Given the description of an element on the screen output the (x, y) to click on. 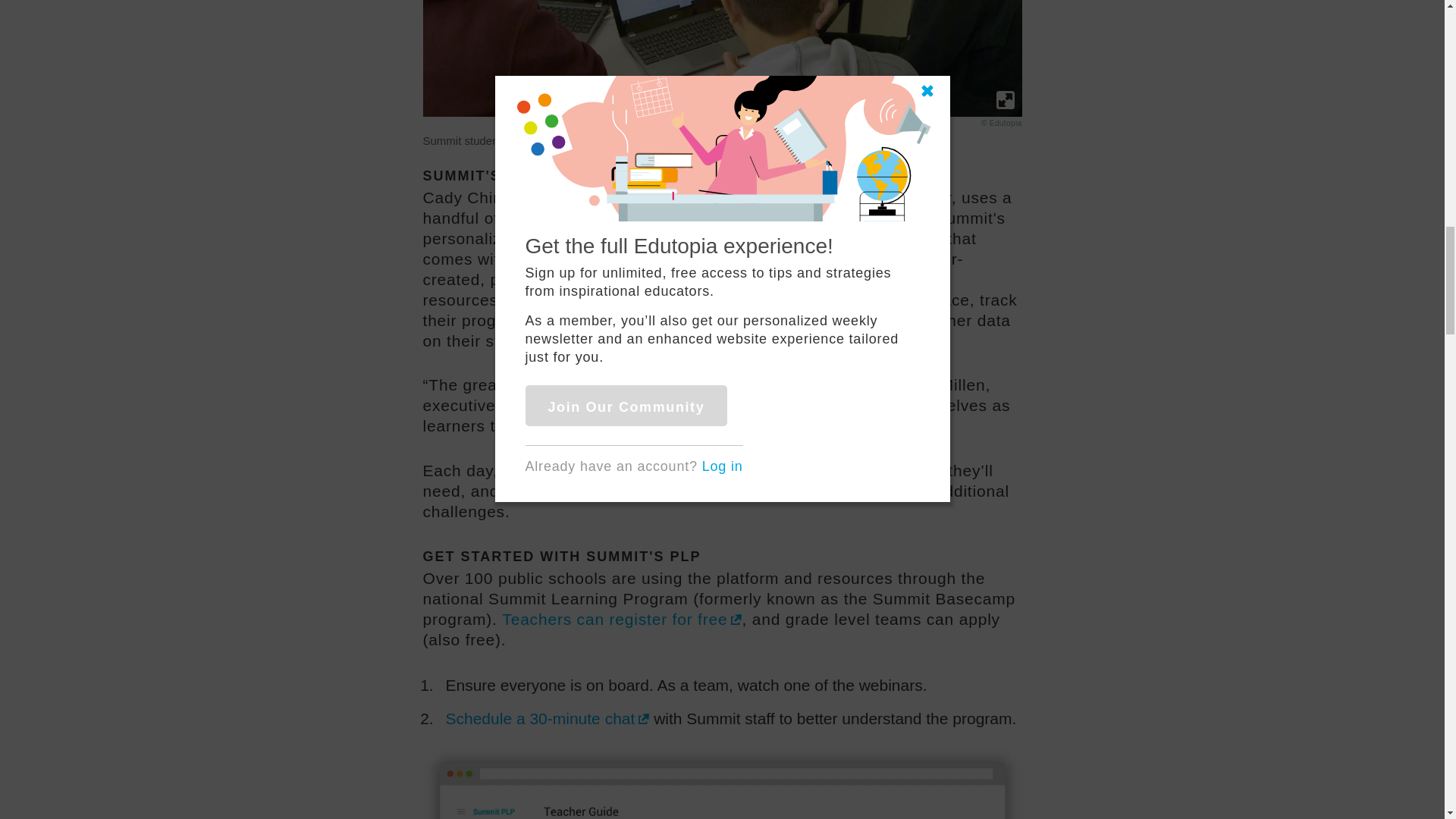
Schedule a 30-minute chat (547, 718)
Teachers can register for free (621, 619)
